Given the description of an element on the screen output the (x, y) to click on. 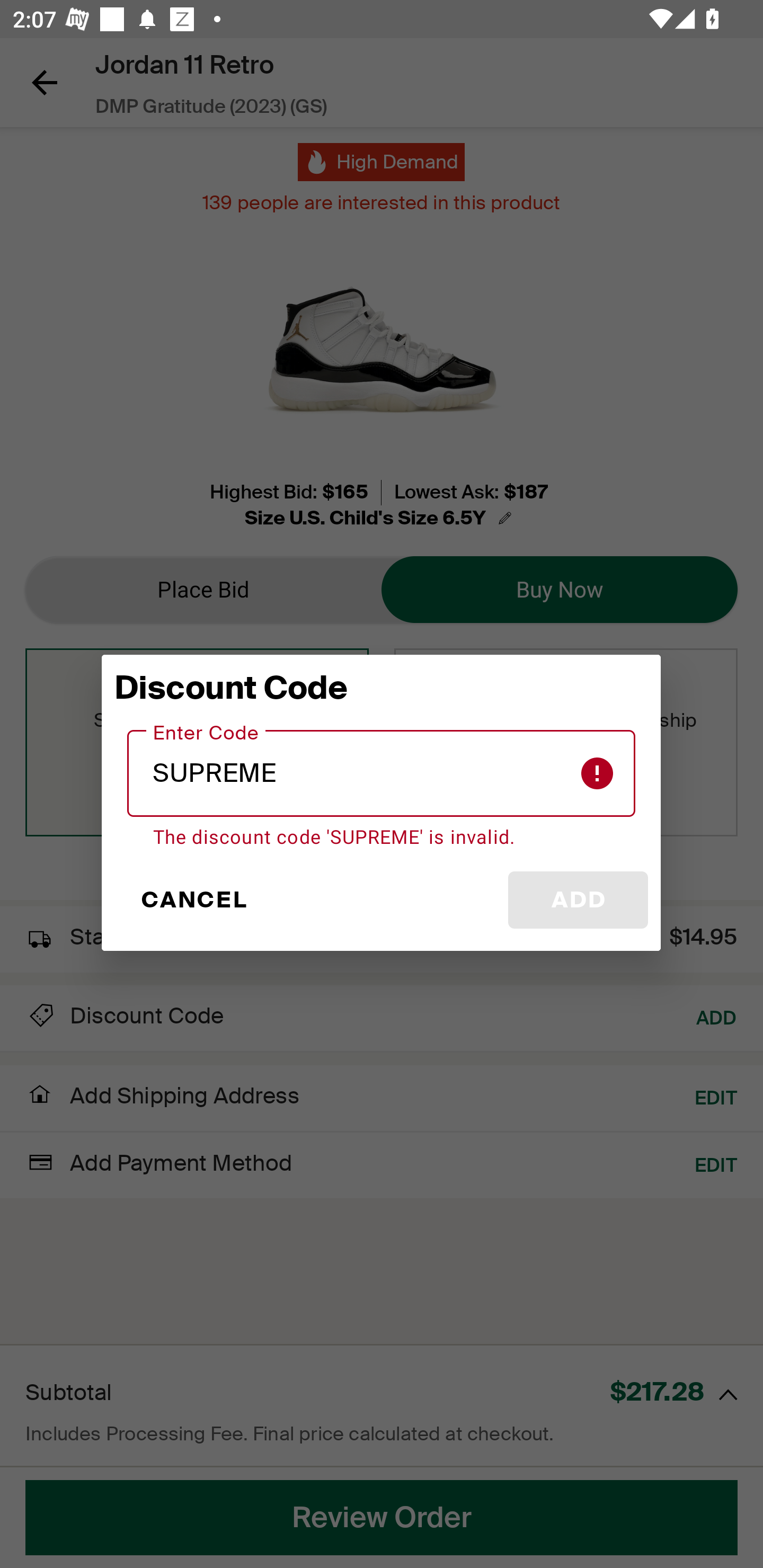
SUPREME (381, 773)
CANCEL (193, 899)
ADD (577, 899)
